Given the description of an element on the screen output the (x, y) to click on. 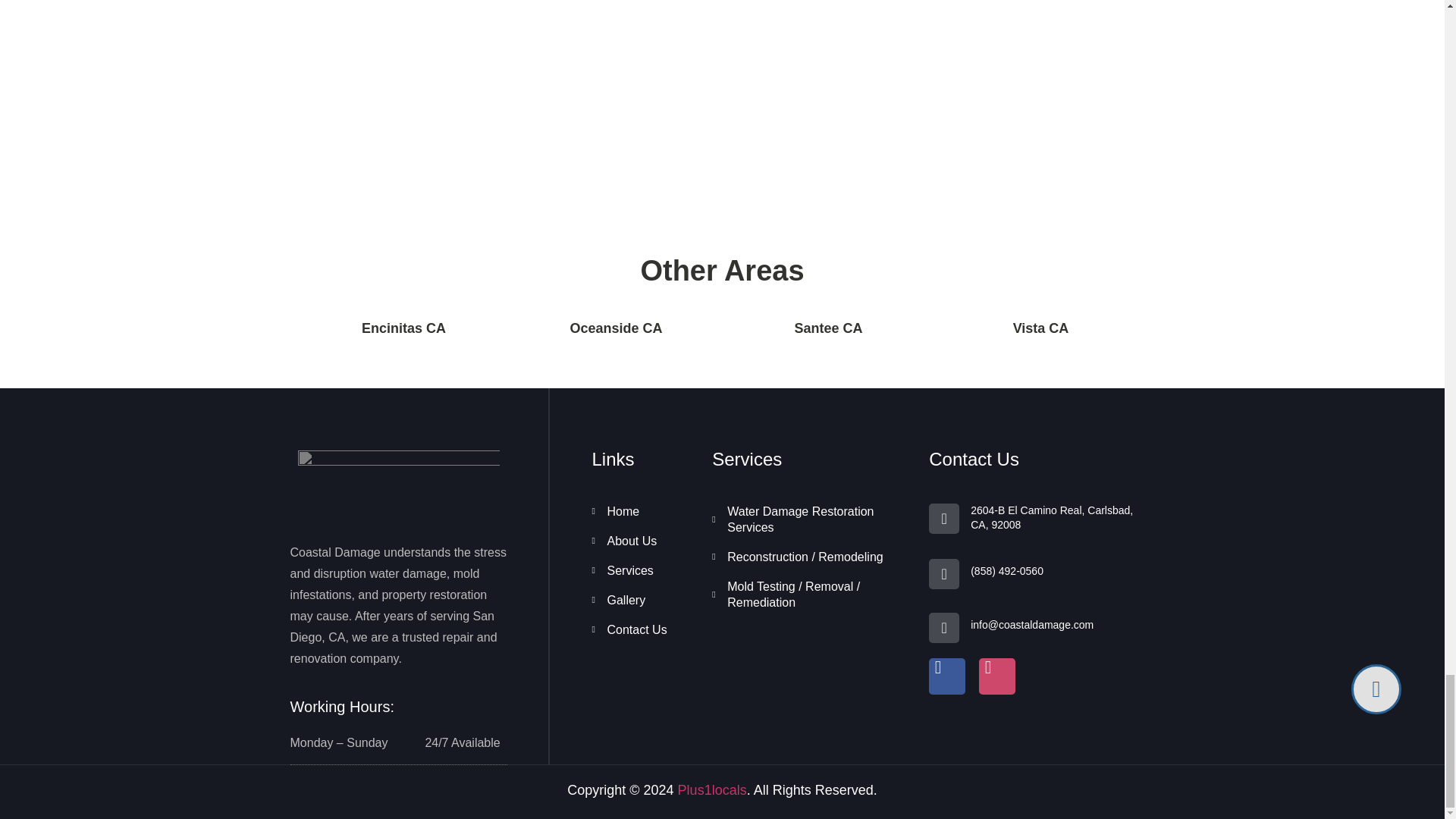
Encinitas CA (403, 328)
Santee CA (827, 328)
Oceanside CA (615, 328)
